Given the description of an element on the screen output the (x, y) to click on. 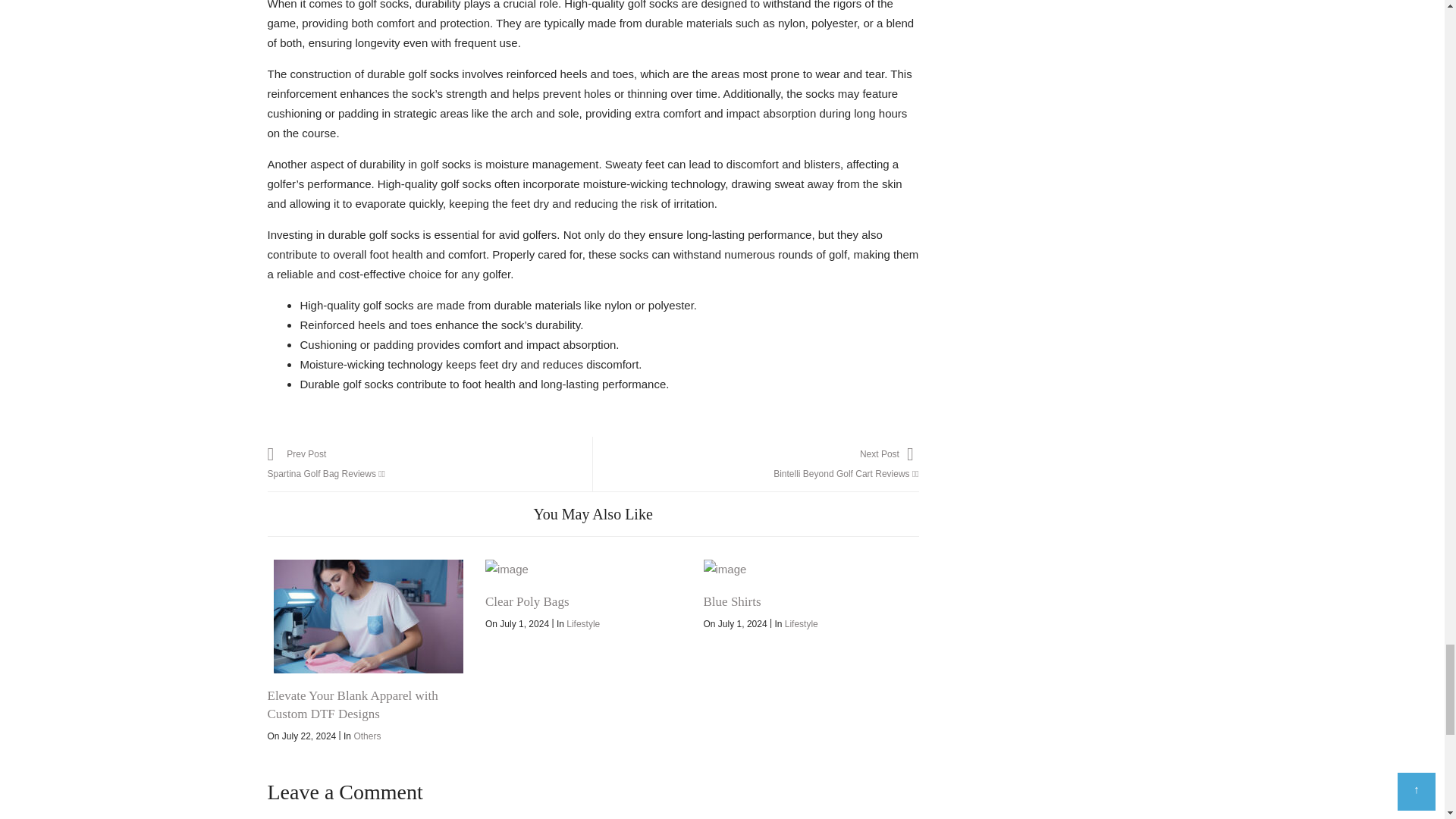
Clear Poly Bags (526, 601)
Blue Shirts (732, 601)
Others (366, 736)
Clear Poly Bags (585, 569)
Lifestyle (582, 624)
Blue Shirts (804, 569)
Elevate Your Blank Apparel with Custom DTF Designs (352, 704)
Lifestyle (801, 624)
Elevate Your Blank Apparel with Custom DTF Designs (367, 616)
